Given the description of an element on the screen output the (x, y) to click on. 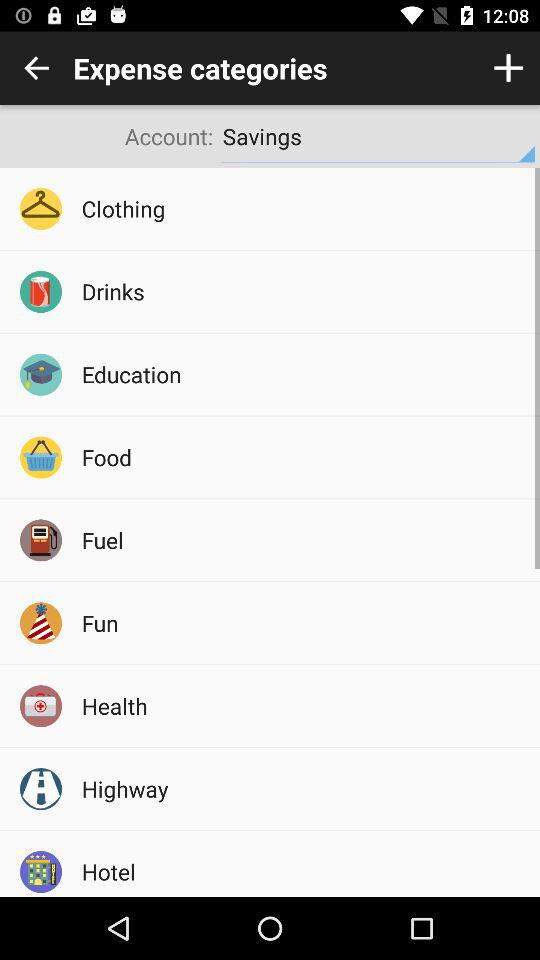
switch previous page (36, 68)
